Given the description of an element on the screen output the (x, y) to click on. 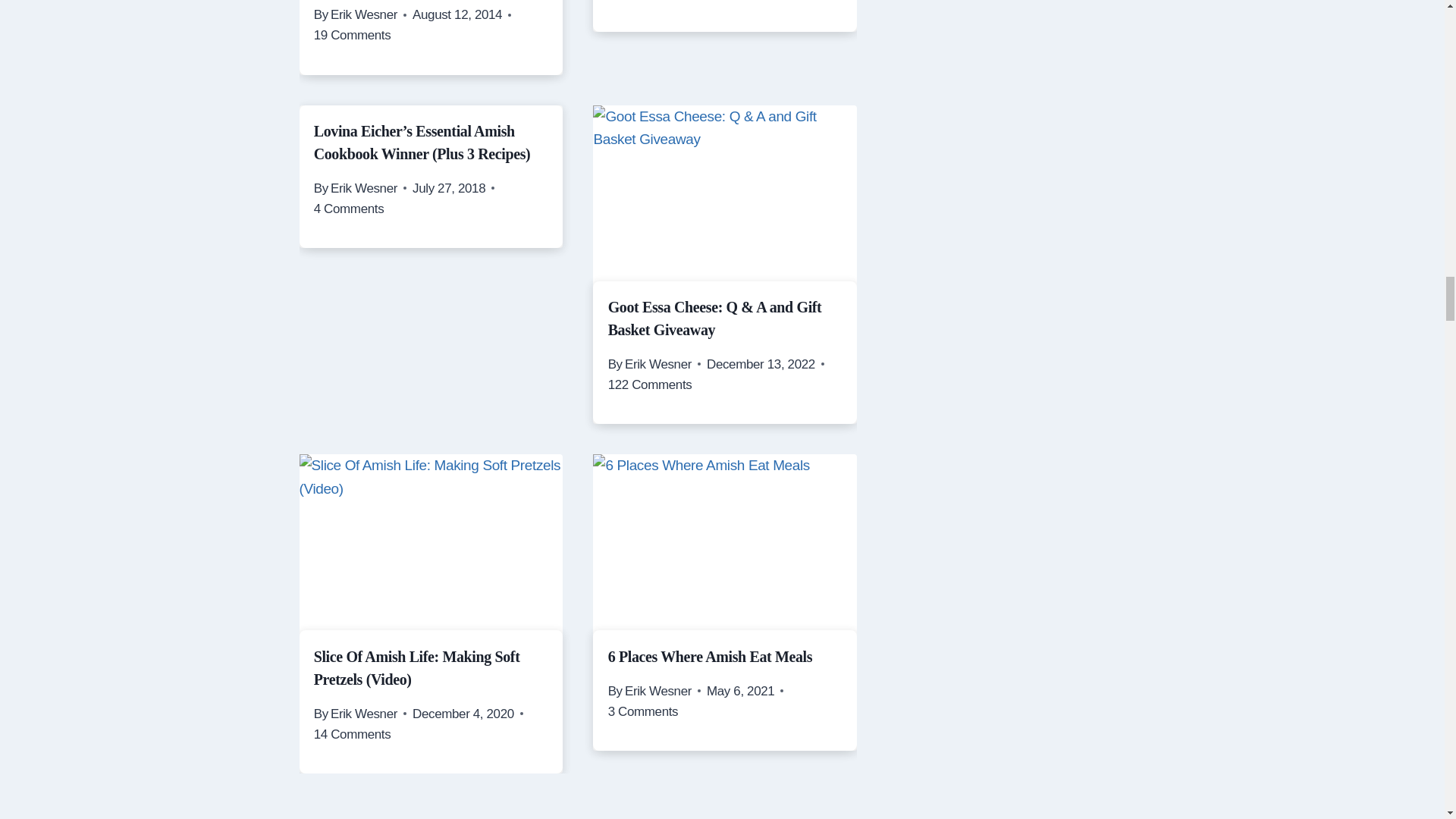
19 Comments (352, 35)
52 Comments (792, 1)
122 Comments (650, 384)
4 Comments (349, 209)
52 Comments (792, 1)
19 Comments (352, 35)
3 Comments (643, 711)
14 Comments (352, 733)
